Given the description of an element on the screen output the (x, y) to click on. 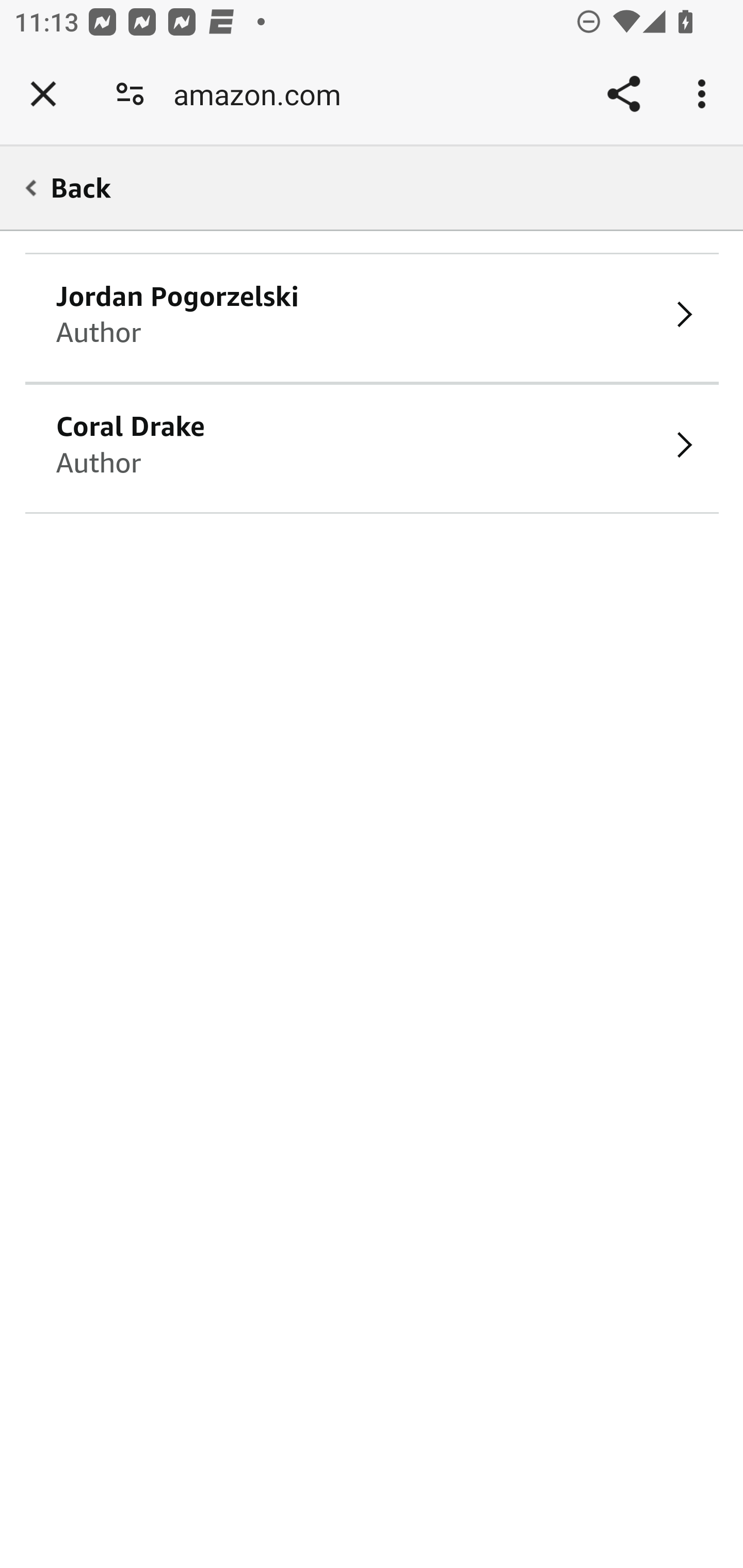
Close tab (43, 93)
Share (623, 93)
Customize and control Google Chrome (705, 93)
Connection is secure (129, 93)
amazon.com (264, 93)
Back (364, 187)
Coral Drake Author Coral Drake Author (372, 448)
